Given the description of an element on the screen output the (x, y) to click on. 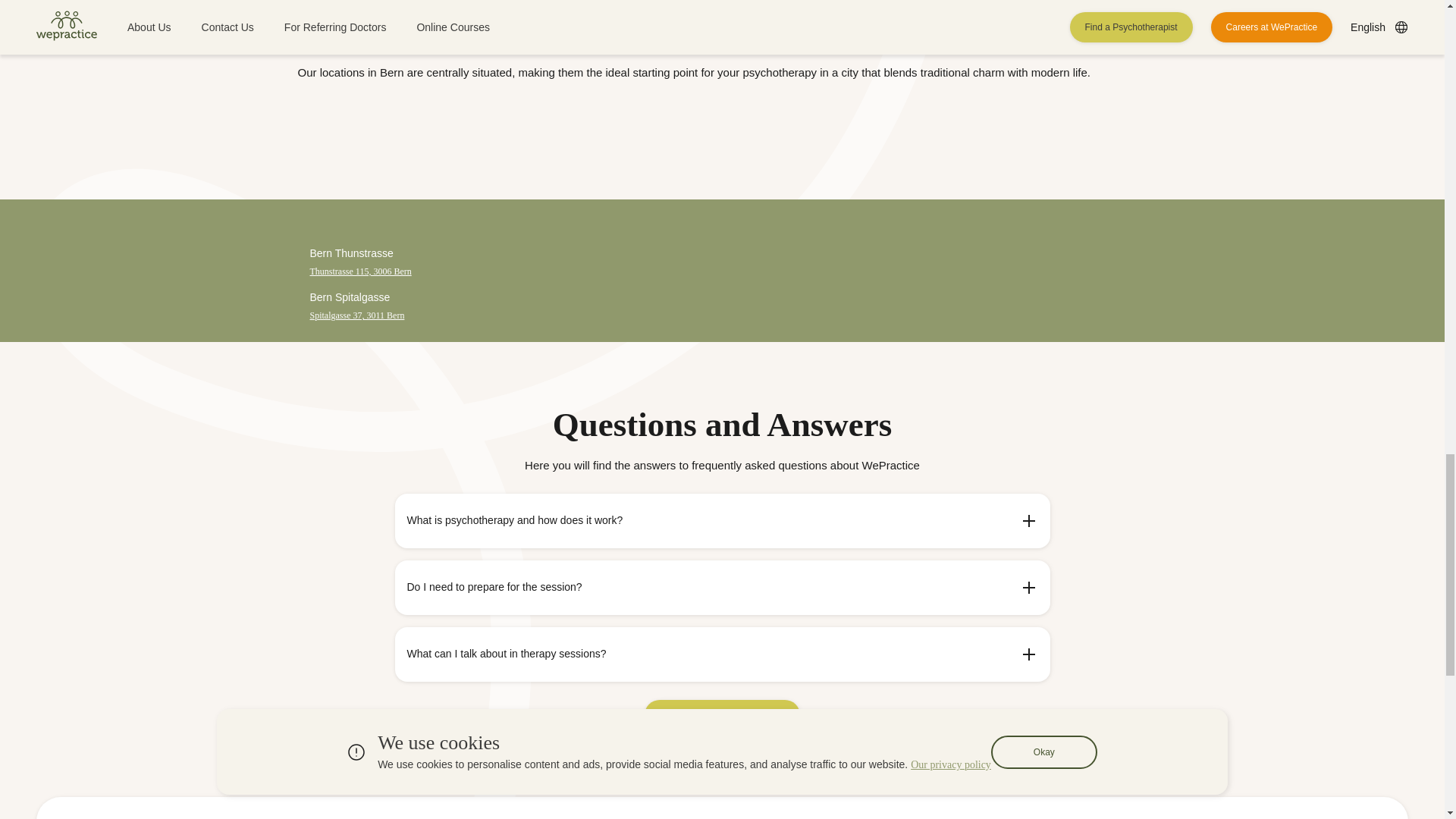
Thunstrasse 115, 3006 Bern (359, 271)
Zu allen Fragen und Antworten (722, 715)
Spitalgasse 37, 3011 Bern (356, 315)
